Given the description of an element on the screen output the (x, y) to click on. 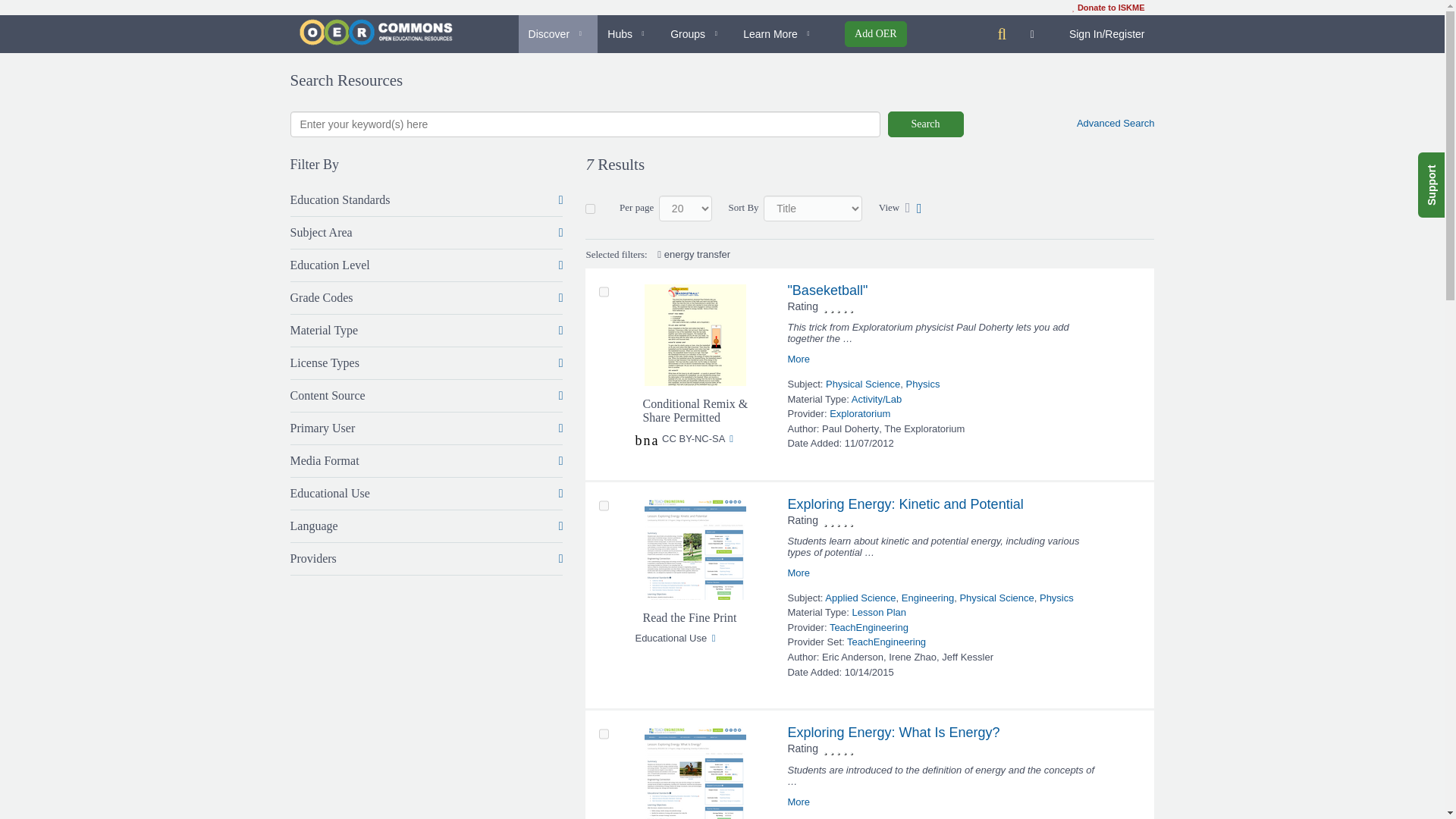
Discover (558, 34)
Hubs (628, 34)
Groups (697, 34)
Show add OER options (875, 33)
Add OER (875, 33)
on (590, 207)
Donate to ISKME (1107, 7)
Search keywords (584, 124)
Learn More (779, 34)
